Given the description of an element on the screen output the (x, y) to click on. 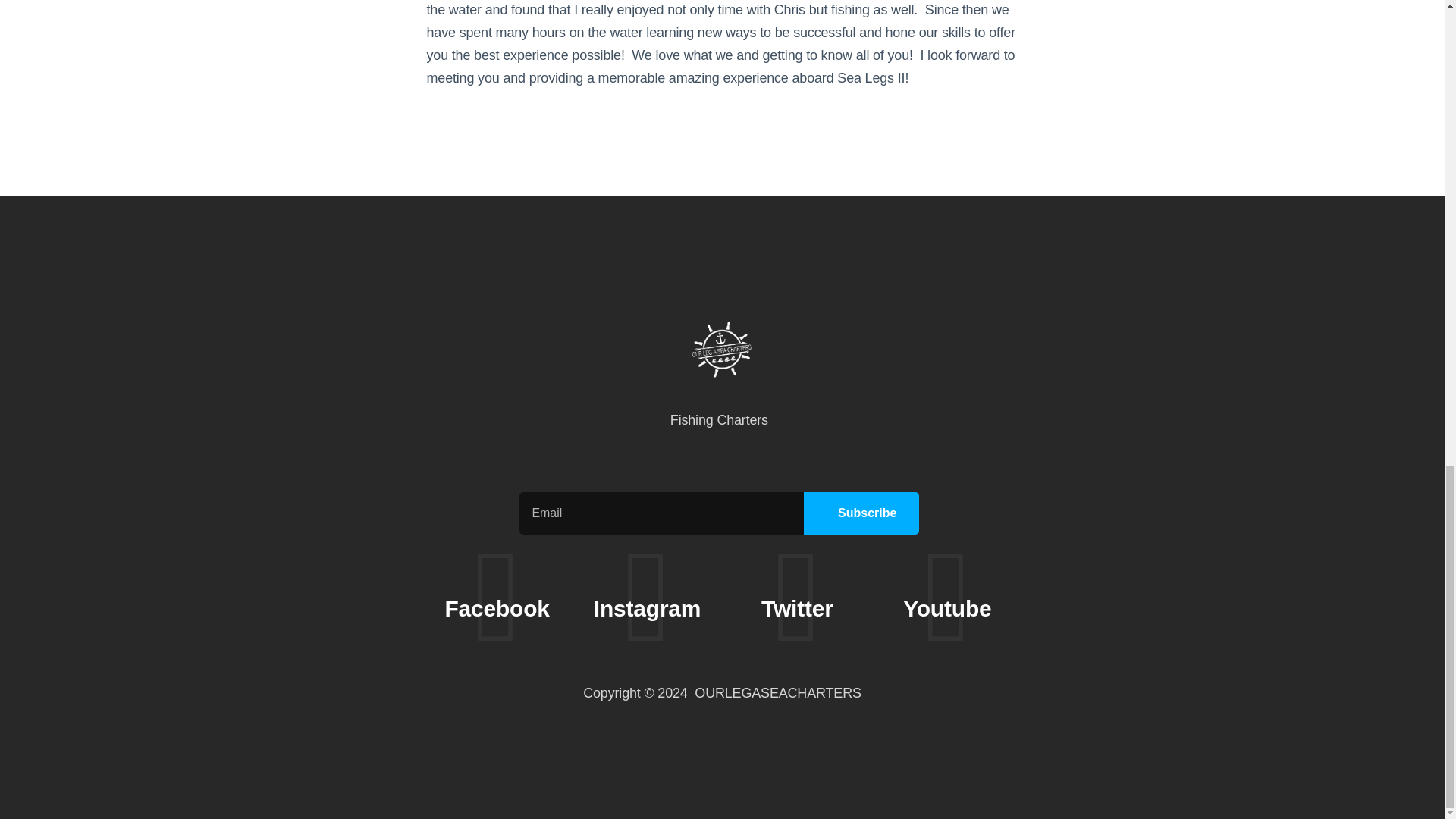
Subscribe (860, 513)
